Given the description of an element on the screen output the (x, y) to click on. 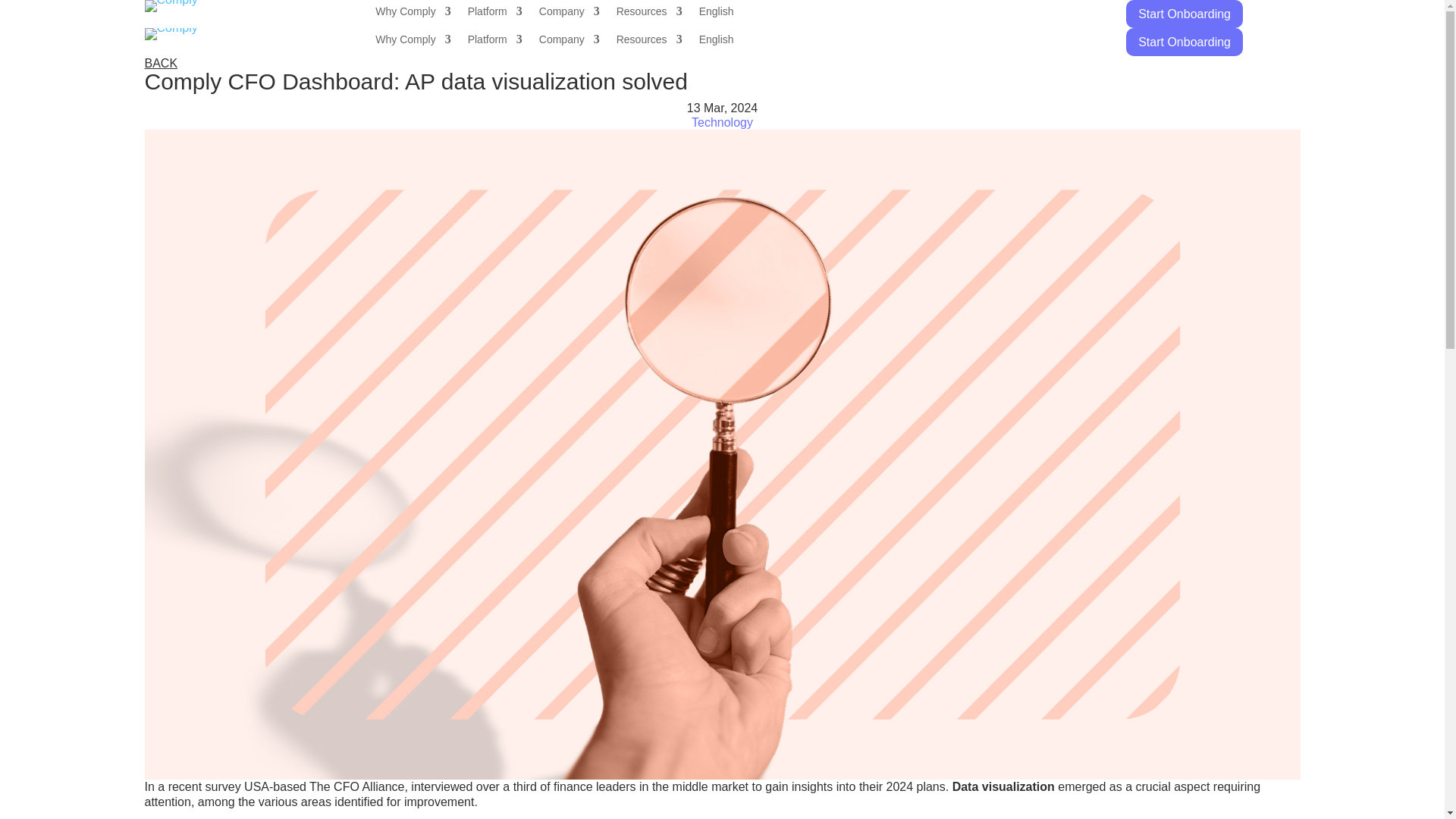
Why Comply (412, 42)
Platform (494, 13)
Logo Comply-def (170, 6)
Resources (648, 13)
English (715, 13)
English (715, 42)
Start Onboarding (1184, 13)
Logo Comply-def-neg (170, 33)
Company (568, 13)
Resources (648, 42)
